Given the description of an element on the screen output the (x, y) to click on. 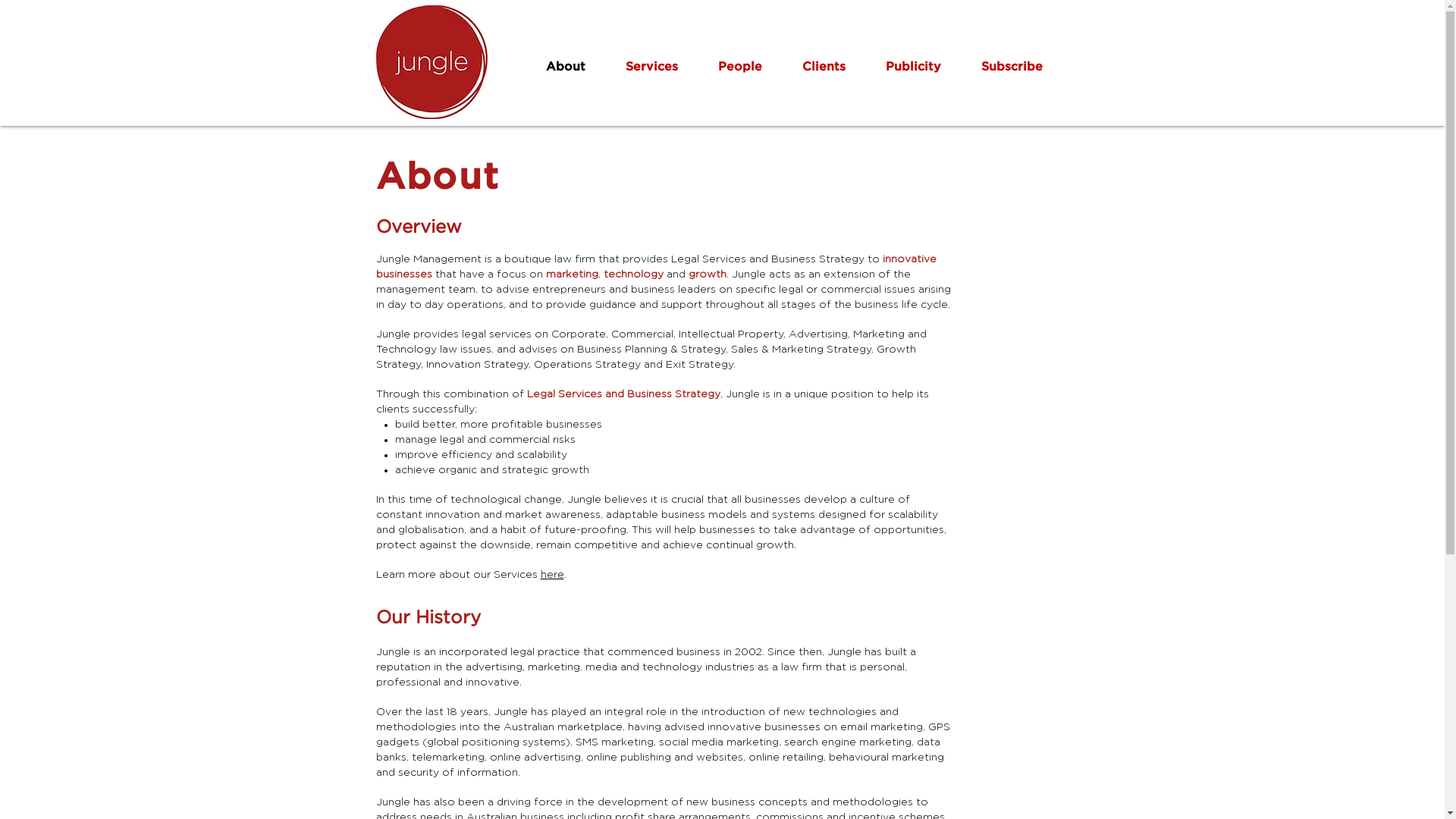
Subscribe Element type: text (1012, 67)
Services Element type: text (651, 67)
People Element type: text (739, 67)
Clients Element type: text (824, 67)
Publicity Element type: text (913, 67)
Legal Services and Business Strategy Element type: text (622, 392)
here Element type: text (551, 574)
About Element type: text (564, 67)
